Given the description of an element on the screen output the (x, y) to click on. 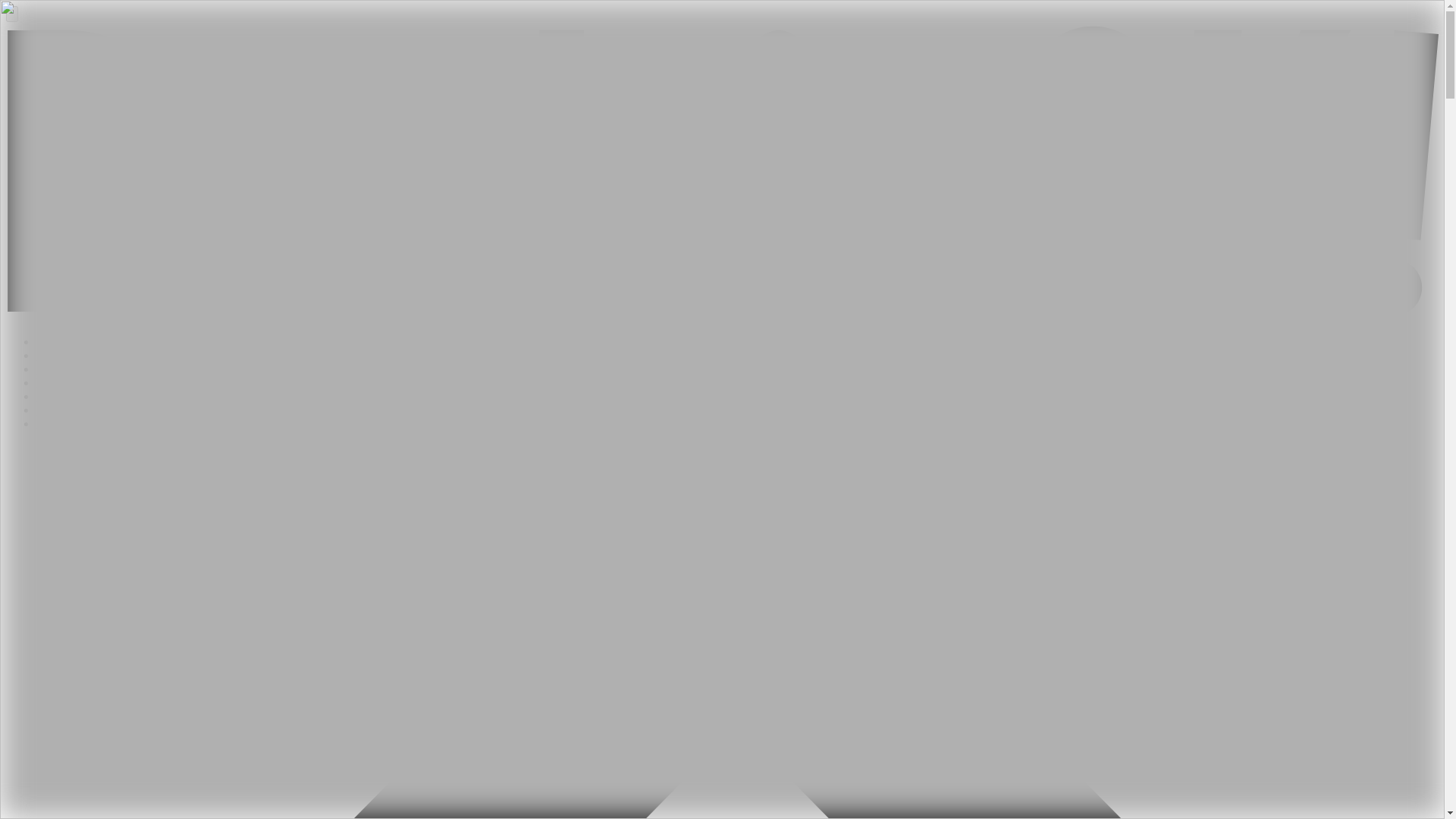
Stays (49, 395)
Dream Careers Hub (84, 409)
Homes (52, 354)
Lifestyle (58, 422)
Explore (55, 368)
